Given the description of an element on the screen output the (x, y) to click on. 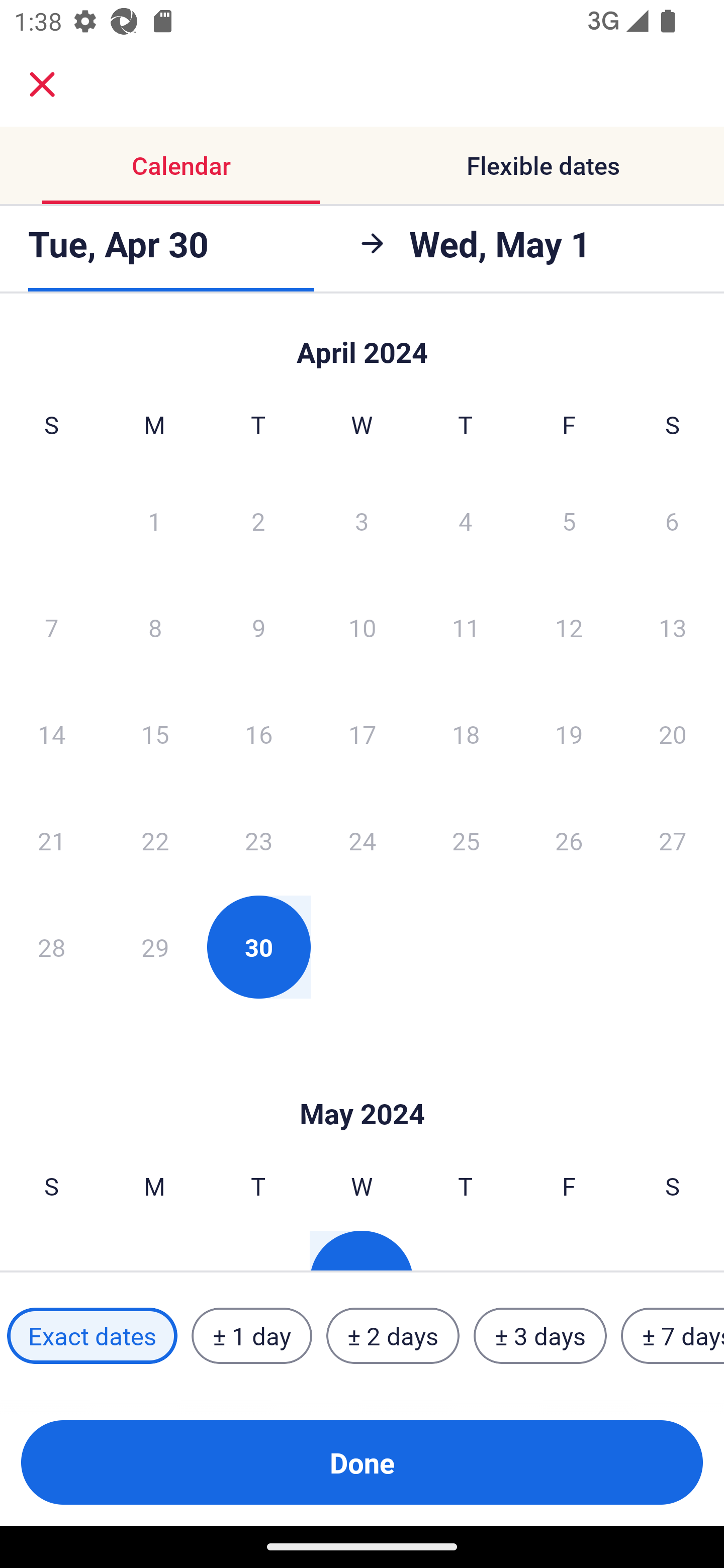
close. (42, 84)
Flexible dates (542, 164)
Skip to Done (362, 343)
1 Monday, April 1, 2024 (154, 520)
2 Tuesday, April 2, 2024 (257, 520)
3 Wednesday, April 3, 2024 (361, 520)
4 Thursday, April 4, 2024 (465, 520)
5 Friday, April 5, 2024 (568, 520)
6 Saturday, April 6, 2024 (672, 520)
7 Sunday, April 7, 2024 (51, 626)
8 Monday, April 8, 2024 (155, 626)
9 Tuesday, April 9, 2024 (258, 626)
10 Wednesday, April 10, 2024 (362, 626)
11 Thursday, April 11, 2024 (465, 626)
12 Friday, April 12, 2024 (569, 626)
13 Saturday, April 13, 2024 (672, 626)
14 Sunday, April 14, 2024 (51, 733)
15 Monday, April 15, 2024 (155, 733)
16 Tuesday, April 16, 2024 (258, 733)
17 Wednesday, April 17, 2024 (362, 733)
18 Thursday, April 18, 2024 (465, 733)
19 Friday, April 19, 2024 (569, 733)
20 Saturday, April 20, 2024 (672, 733)
21 Sunday, April 21, 2024 (51, 840)
22 Monday, April 22, 2024 (155, 840)
23 Tuesday, April 23, 2024 (258, 840)
24 Wednesday, April 24, 2024 (362, 840)
25 Thursday, April 25, 2024 (465, 840)
26 Friday, April 26, 2024 (569, 840)
27 Saturday, April 27, 2024 (672, 840)
28 Sunday, April 28, 2024 (51, 946)
29 Monday, April 29, 2024 (155, 946)
Skip to Done (362, 1083)
Exact dates (92, 1335)
± 1 day (251, 1335)
± 2 days (392, 1335)
± 3 days (539, 1335)
± 7 days (672, 1335)
Done (361, 1462)
